Given the description of an element on the screen output the (x, y) to click on. 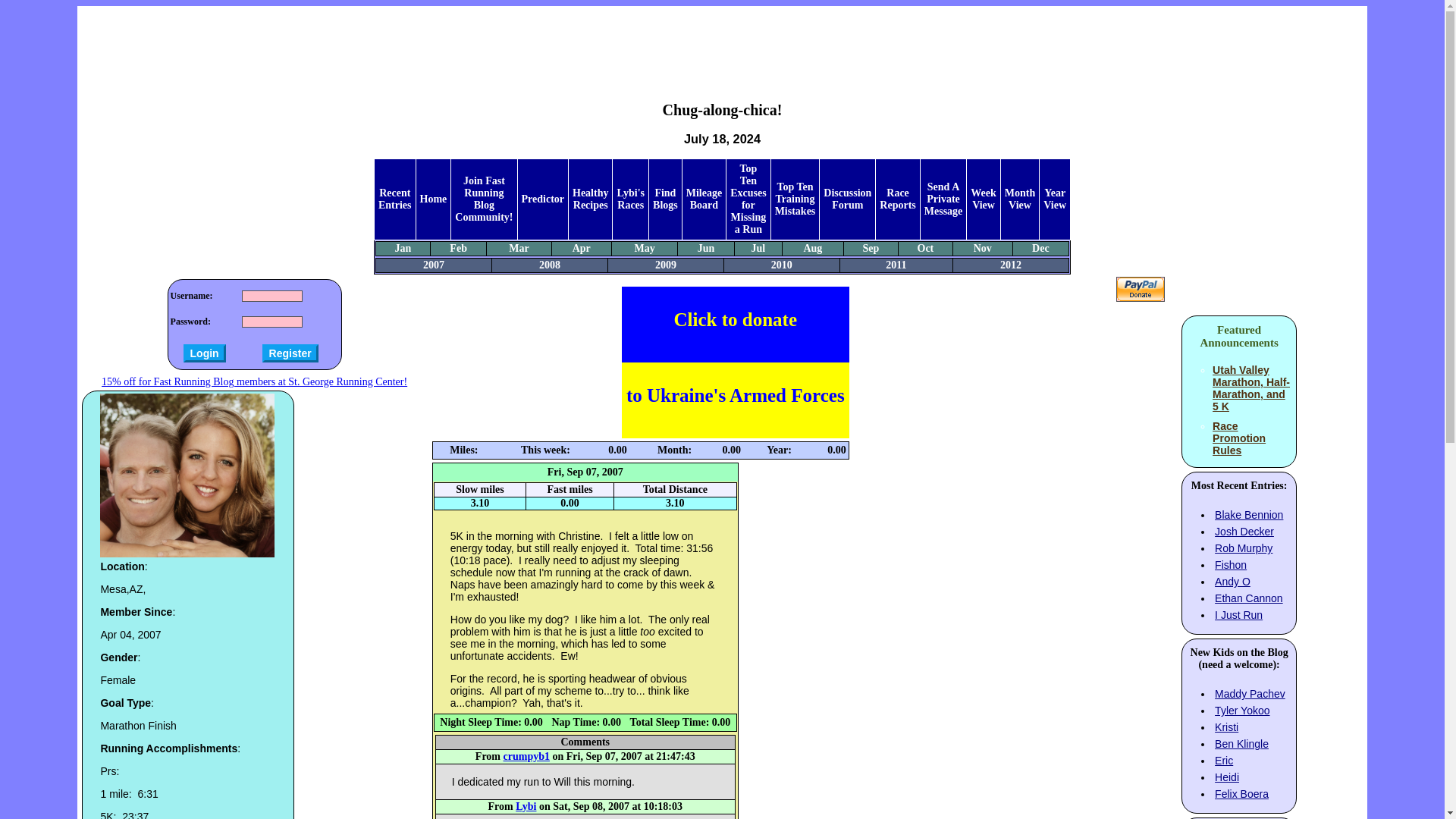
Register (290, 352)
Healthy Recipes (590, 198)
Week View (983, 198)
Jun (705, 247)
2008 (549, 265)
Jan (403, 247)
Apr (581, 247)
Race Reports (897, 198)
Jul (758, 247)
Aug (812, 247)
2007 (433, 265)
Register (290, 352)
2010 (781, 265)
Login (204, 352)
May (643, 247)
